Given the description of an element on the screen output the (x, y) to click on. 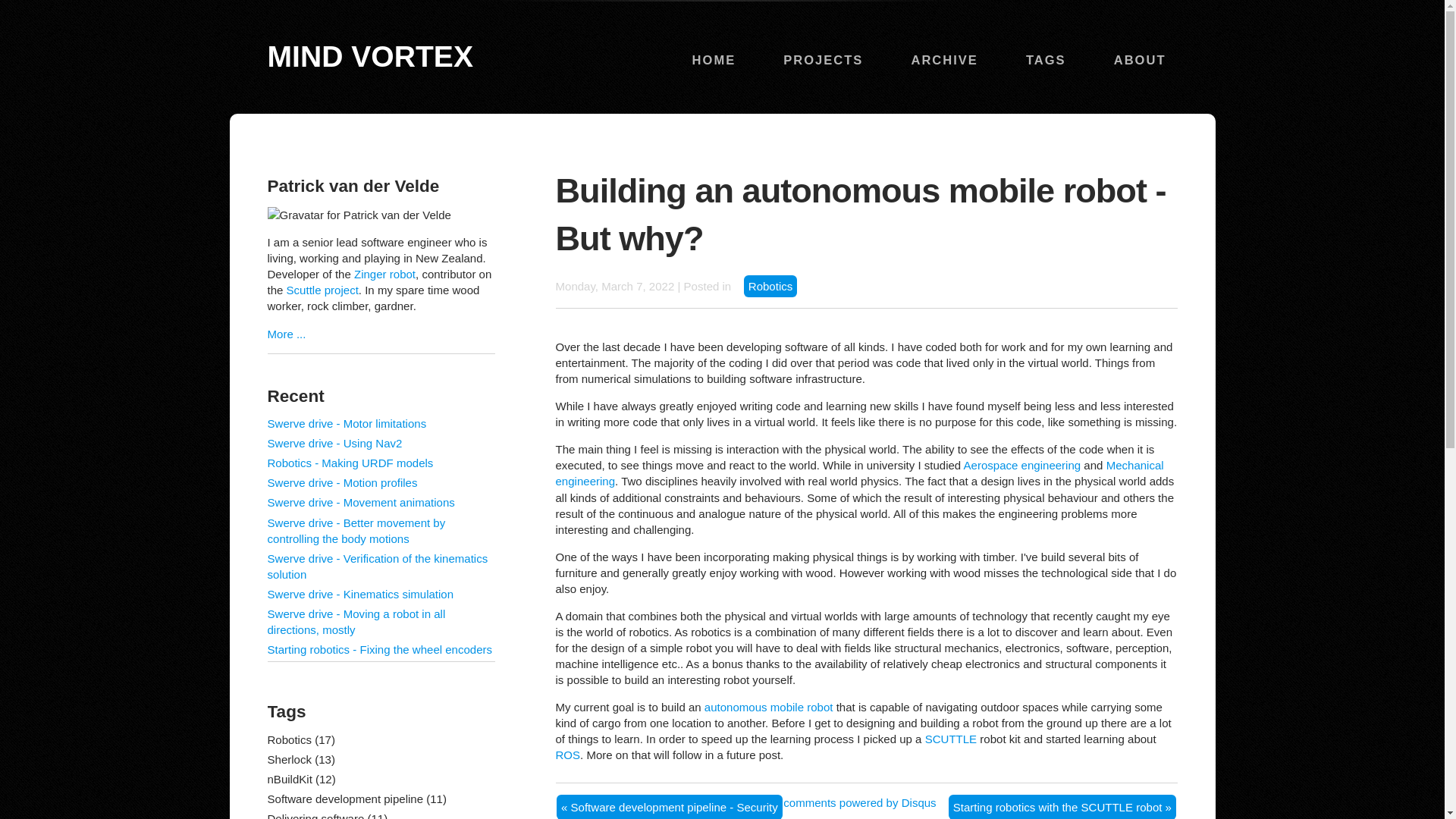
Swerve drive - Verification of the kinematics solution (376, 566)
Mechanical engineering (858, 472)
Robotics - Making URDF models (349, 462)
Swerve drive - Motion profiles (341, 481)
Swerve drive - Kinematics simulation (359, 594)
autonomous mobile robot (768, 707)
Swerve drive - Movement animations (360, 502)
comments powered by Disqus (859, 802)
Swerve drive - Motor limitations (346, 422)
